Given the description of an element on the screen output the (x, y) to click on. 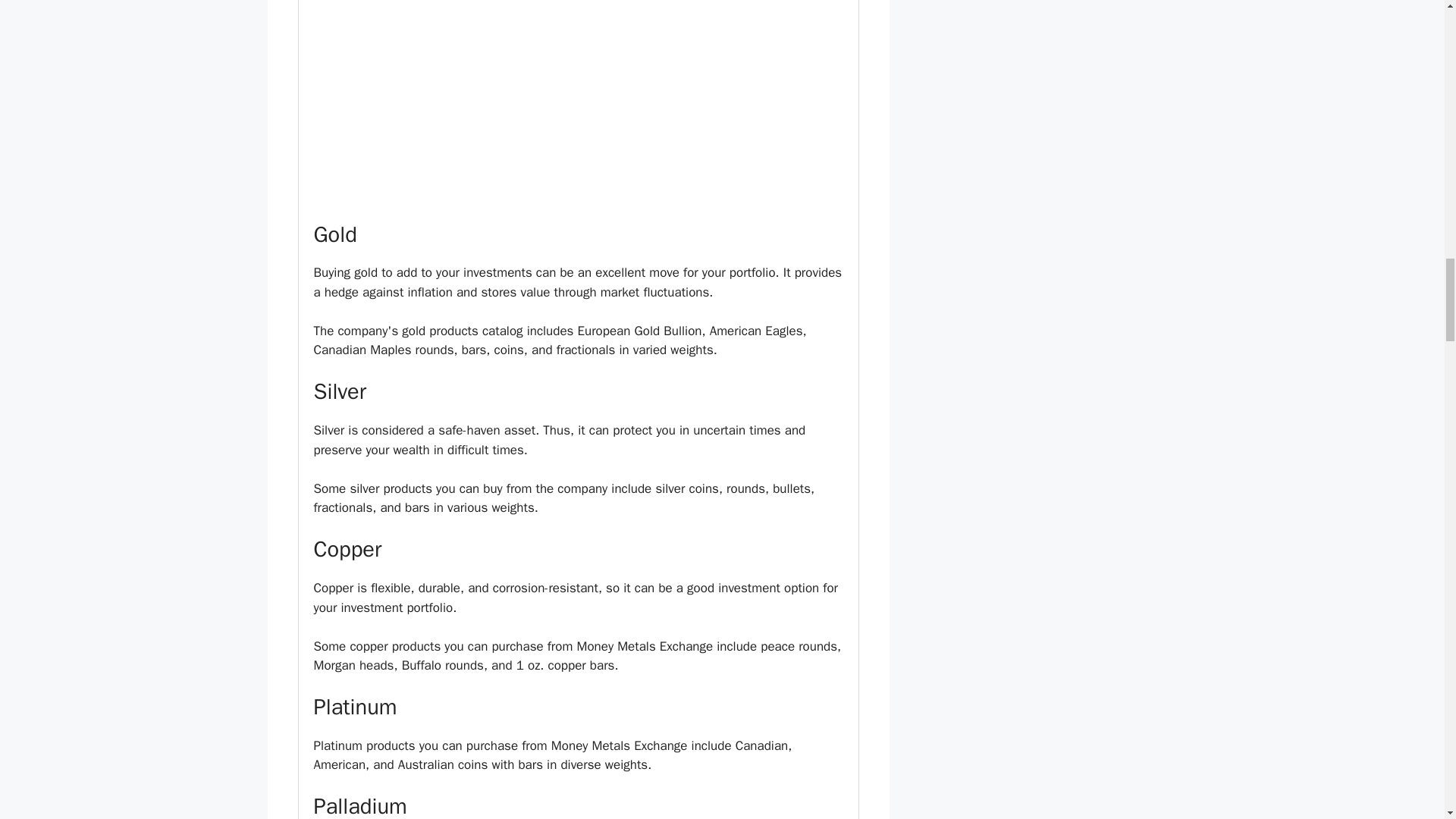
money metals products (578, 102)
